Given the description of an element on the screen output the (x, y) to click on. 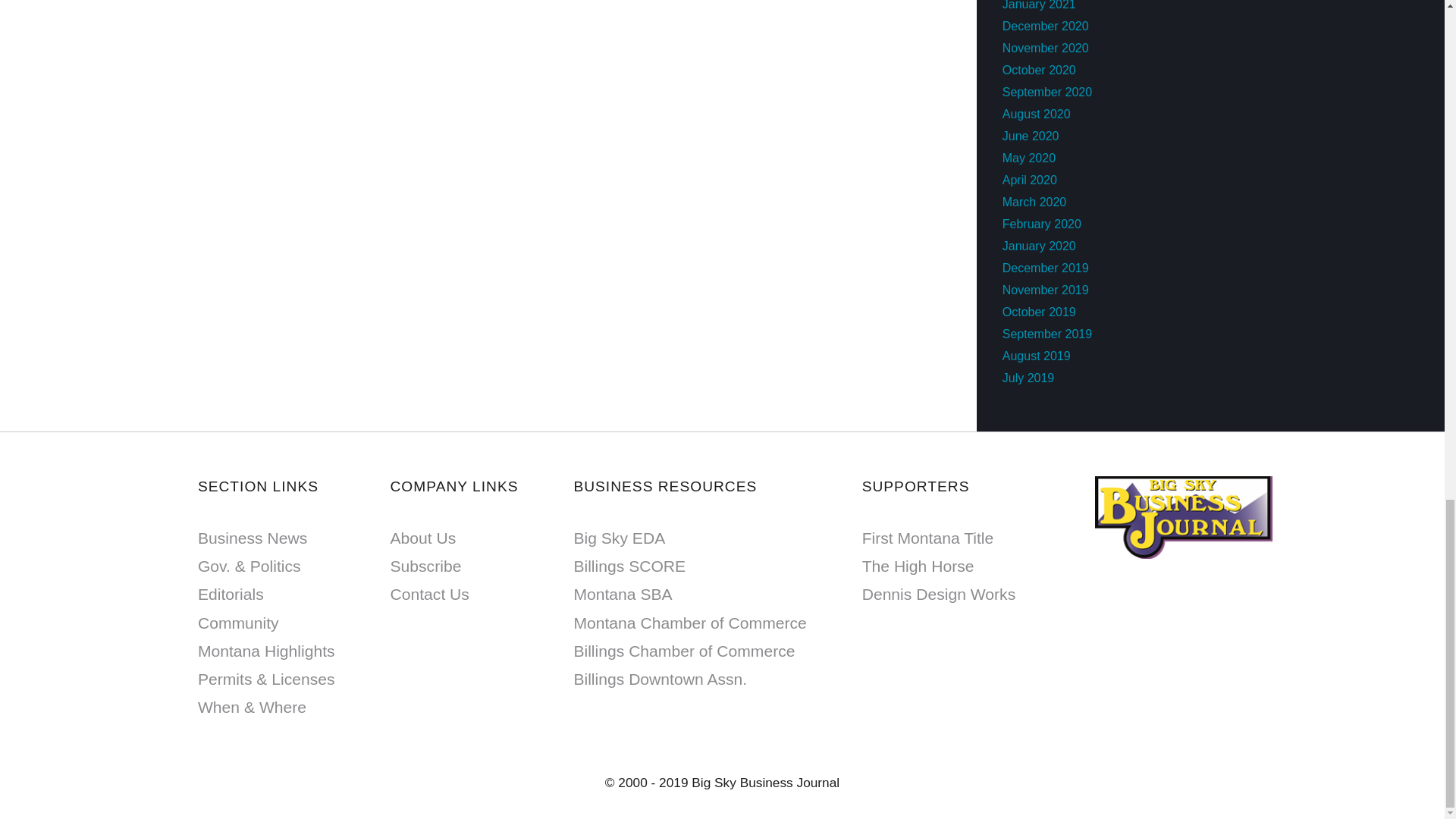
Editorials (230, 593)
Big Sky EDA (619, 538)
Montana SBA (622, 593)
Subscribe (425, 565)
Montana Highlights (266, 651)
Community (238, 622)
Business News (252, 538)
About Us (422, 538)
Contact Us (429, 593)
Billings SCORE (629, 565)
